Given the description of an element on the screen output the (x, y) to click on. 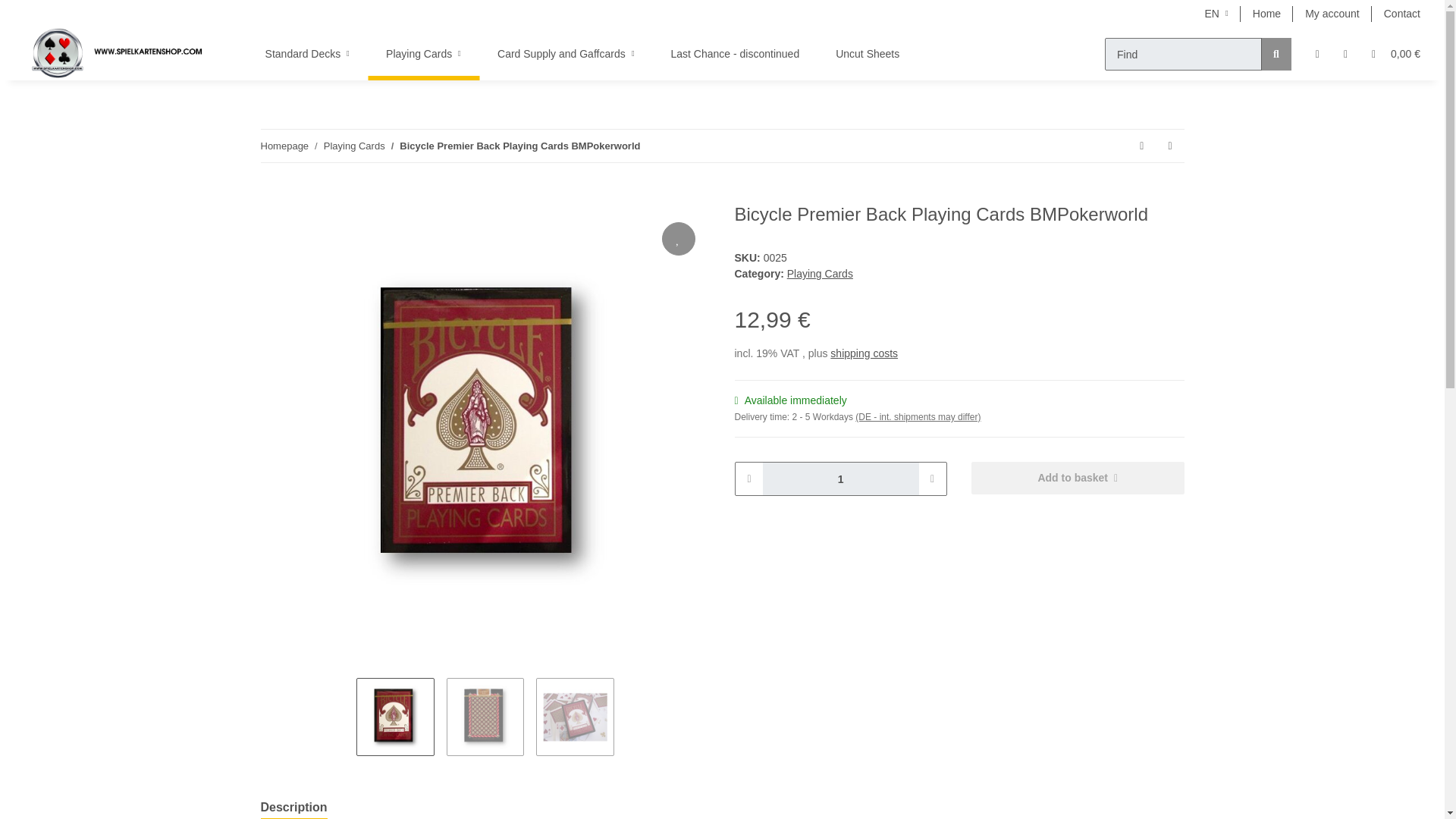
Playing Cards (423, 53)
Home (1266, 13)
Playing Cards (423, 53)
EN (1216, 13)
Contact (1401, 13)
Standard Decks (307, 53)
1 (840, 478)
Card Supply and Gaffcards (565, 53)
Playing Cards (423, 53)
Uncut Sheets (866, 53)
Homepage (284, 145)
Bicycle Premier Back Playing Cards BMPokerworld (519, 145)
Uncut Sheets (866, 53)
